Given the description of an element on the screen output the (x, y) to click on. 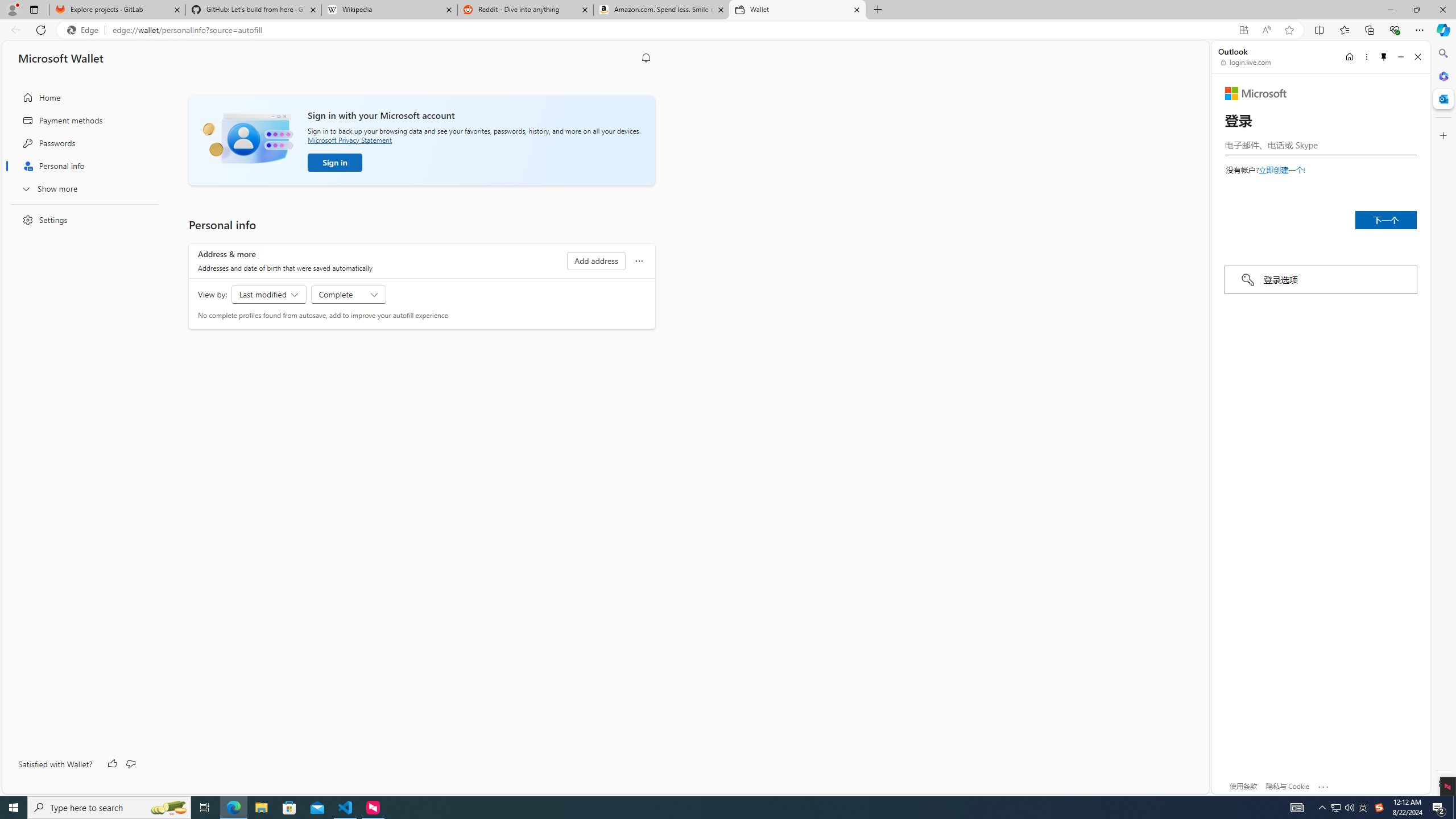
Wallet (797, 9)
View by: (348, 294)
More actions (638, 260)
